Given the description of an element on the screen output the (x, y) to click on. 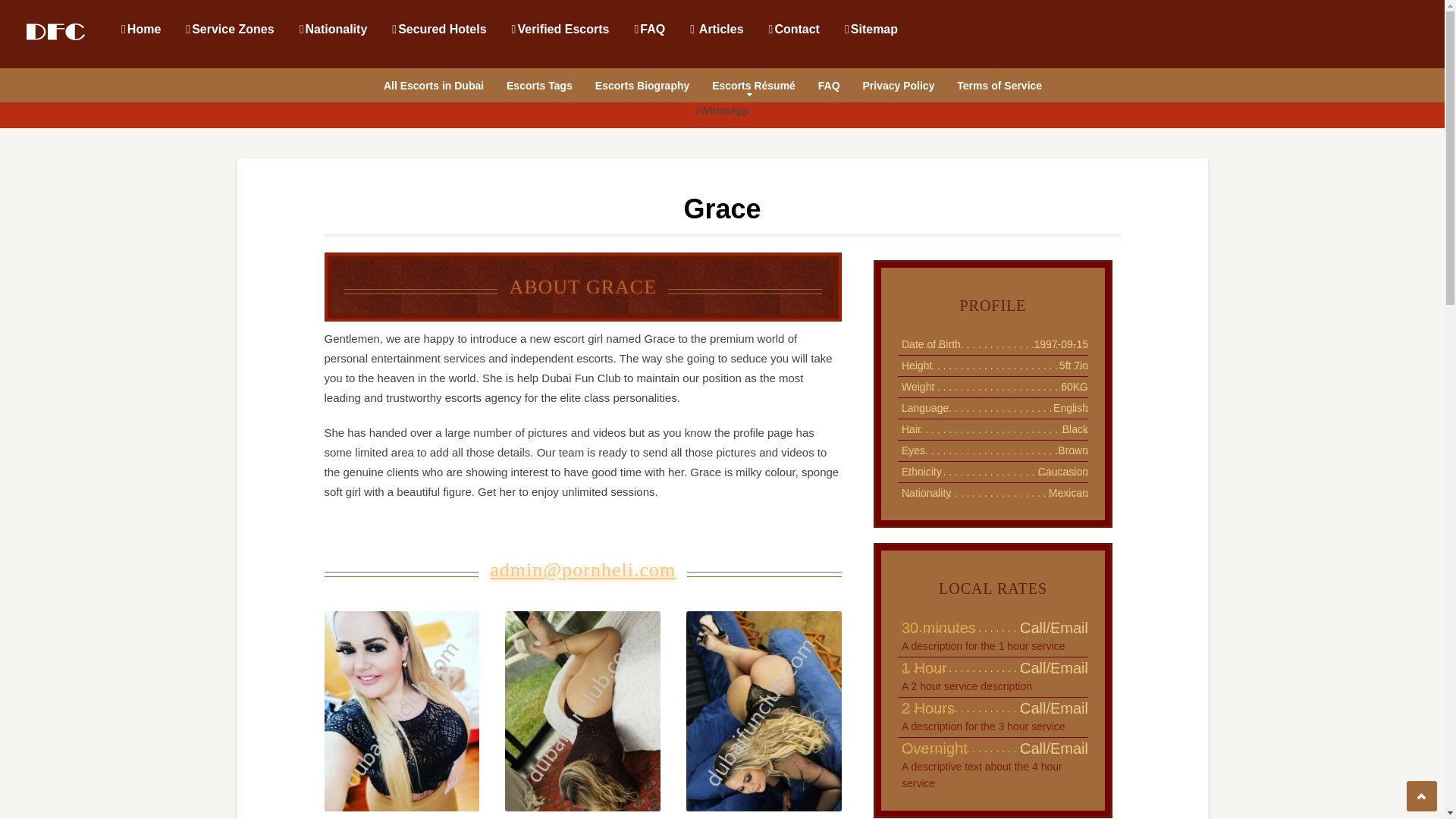
Verified Escorts (559, 28)
Articles (715, 28)
Secured Hotels (438, 28)
All Escorts in Dubai (433, 83)
Service Zones (228, 28)
Home (140, 28)
Contact (793, 28)
Privacy Policy (898, 83)
Nationality (333, 28)
FAQ (648, 28)
Terms of Service (999, 83)
Escorts Tags (539, 83)
Sitemap (870, 28)
Escorts Biography (642, 83)
FAQ (828, 83)
